Given the description of an element on the screen output the (x, y) to click on. 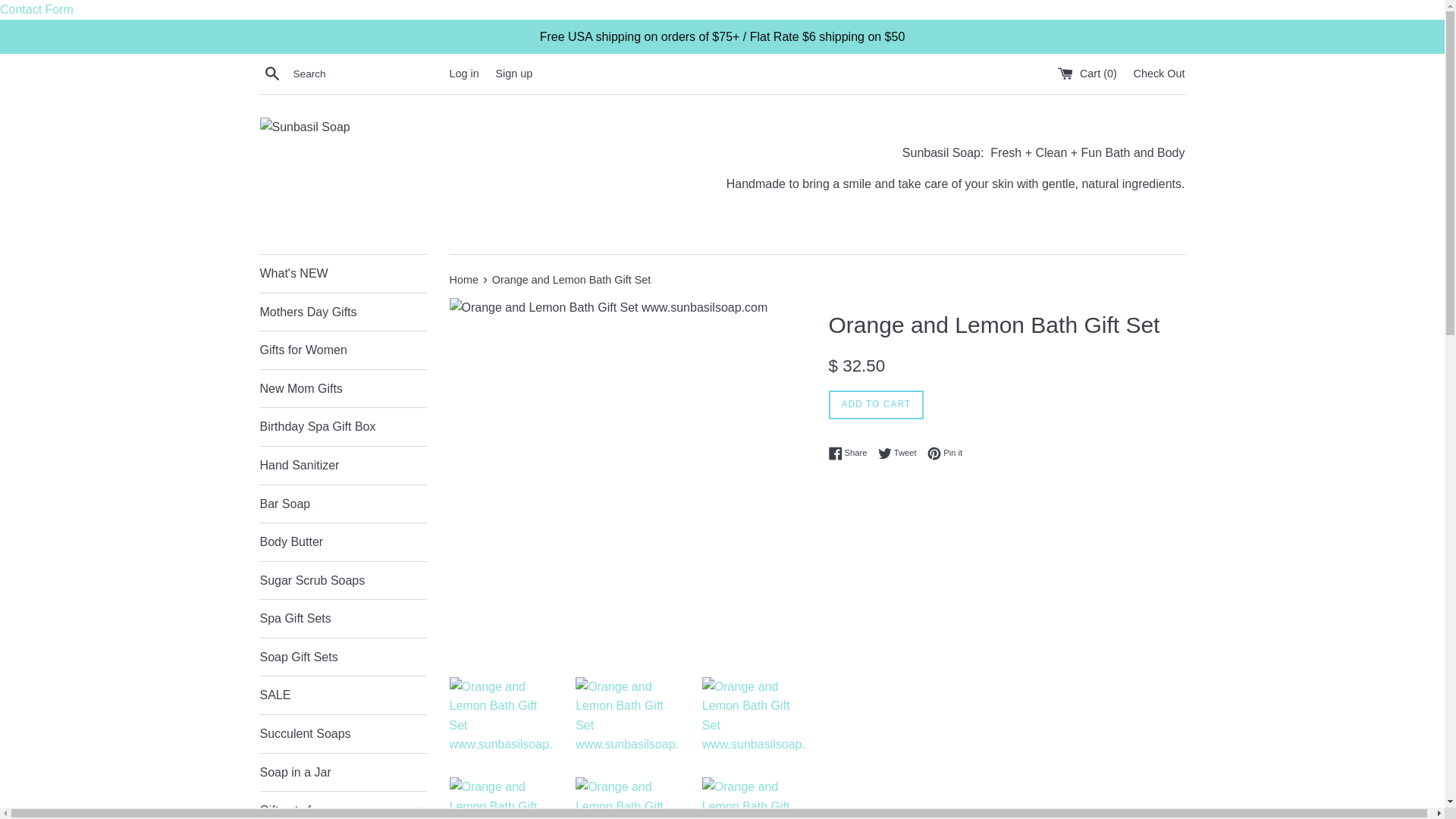
Share on Facebook (851, 453)
Succulent Soaps (342, 733)
Hand Sanitizer (342, 465)
What's NEW (342, 273)
Tweet on Twitter (900, 453)
Search (271, 73)
Spa Gift Sets (342, 618)
SALE (342, 695)
Bar Soap (342, 504)
Log in (463, 73)
Sign up (513, 73)
New Mom Gifts (342, 388)
Soap in a Jar (342, 772)
Check Out (1159, 73)
Sugar Scrub Soaps (342, 580)
